Given the description of an element on the screen output the (x, y) to click on. 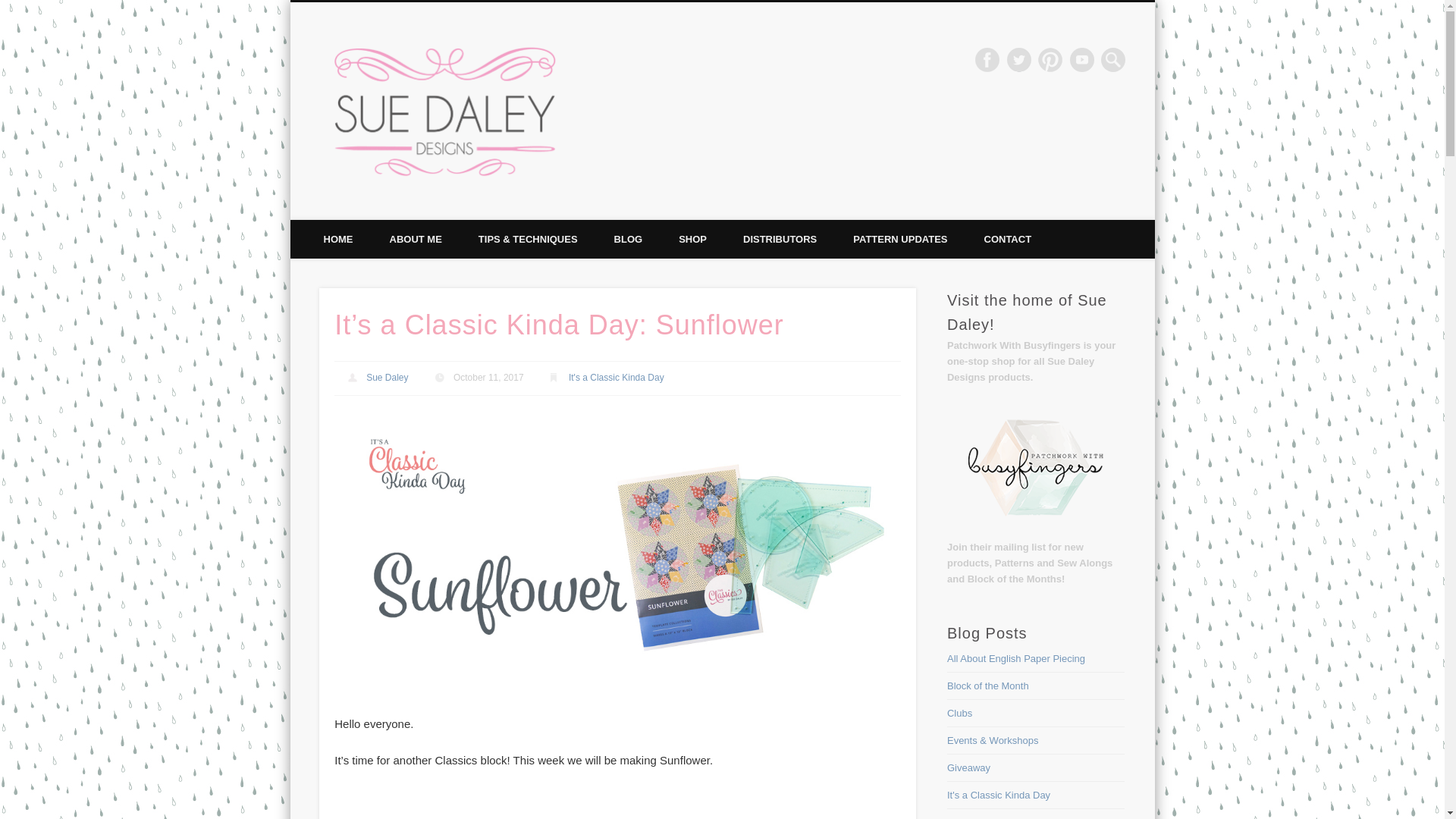
Giveaway (968, 767)
Twitter (1018, 59)
It's a Classic Kinda Day (998, 794)
CONTACT (1007, 239)
DISTRIBUTORS (779, 239)
Sue Daley Designs Blog (709, 59)
Search (11, 7)
Facebook (986, 59)
PATTERN UPDATES (899, 239)
My Designs (972, 817)
SHOP (693, 239)
Posts by Sue Daley (386, 377)
Block of the Month (988, 685)
HOME (337, 239)
Pinterest (1050, 59)
